Given the description of an element on the screen output the (x, y) to click on. 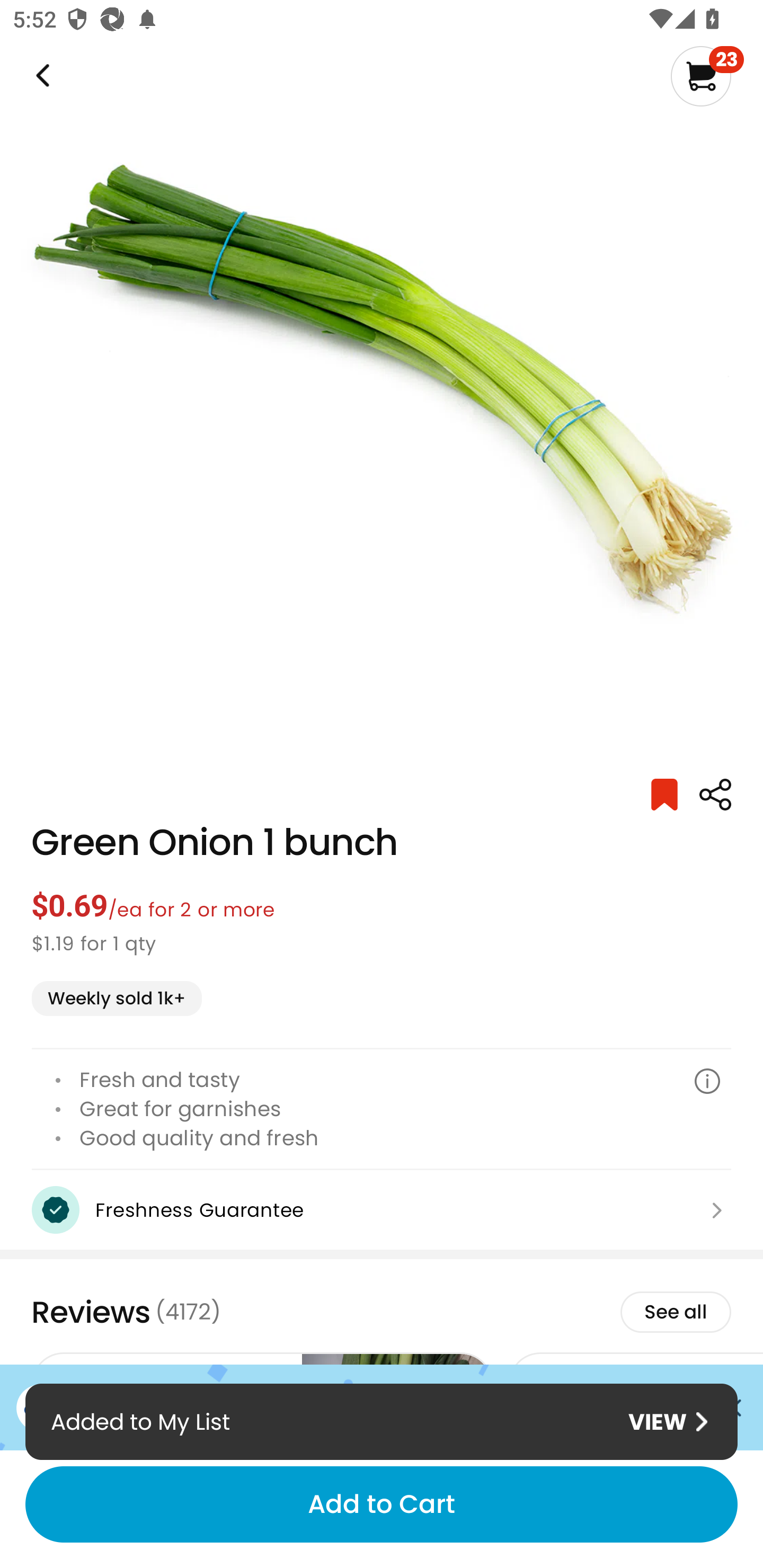
Weee! (41, 75)
23 (706, 75)
Weee! (714, 794)
Freshness Guarantee (381, 1209)
Reviews (4172) See all (381, 1311)
Added to My List VIEW (381, 1420)
VIEW (667, 1421)
Add to Cart (381, 1504)
Add to Cart (381, 1504)
